Given the description of an element on the screen output the (x, y) to click on. 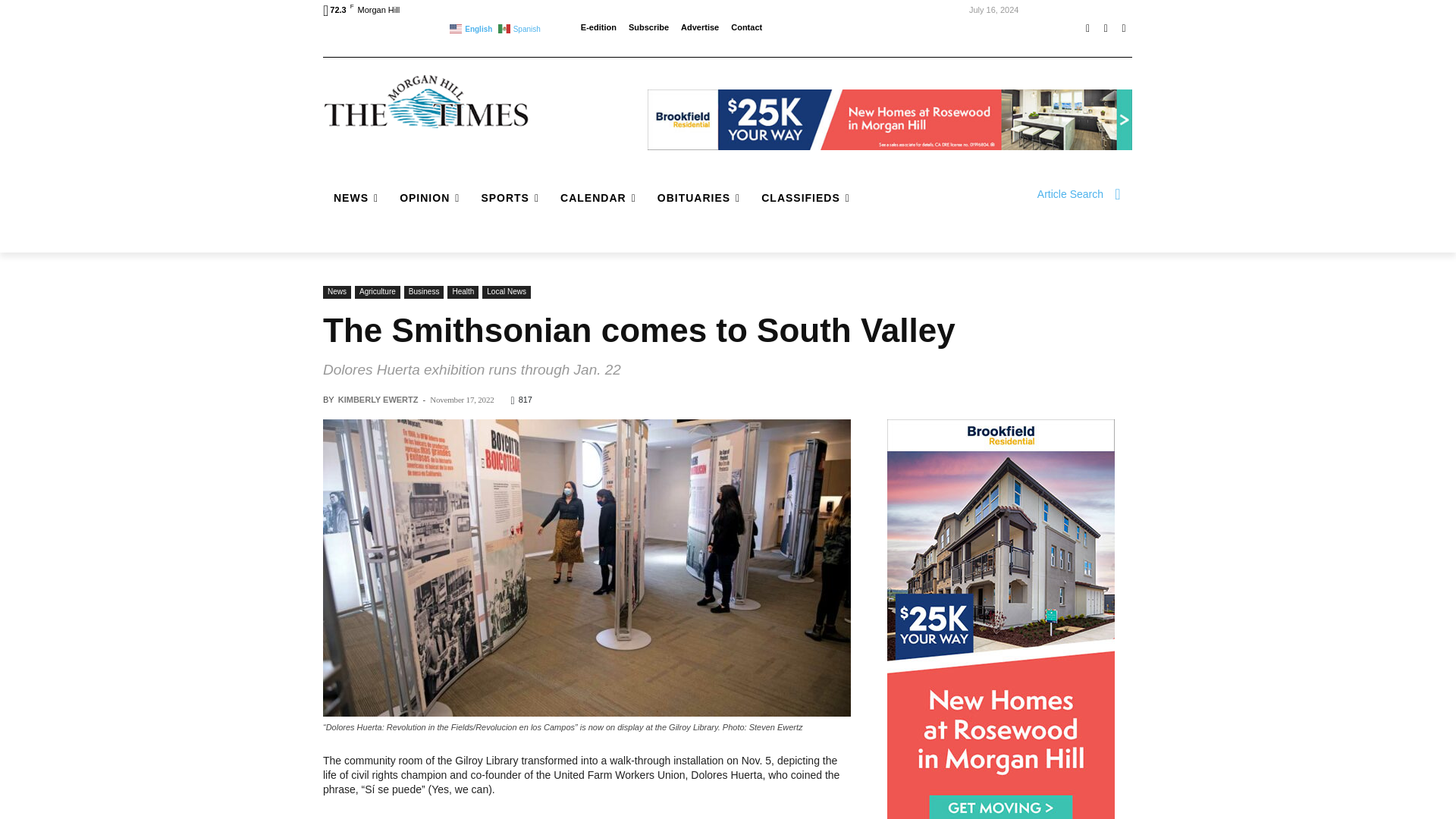
Facebook (1087, 28)
Subscribe (648, 27)
Advertise (700, 27)
English (472, 27)
Spanish (520, 27)
Instagram (1105, 28)
Contact (745, 27)
Twitter (1123, 28)
E-edition (597, 27)
